Given the description of an element on the screen output the (x, y) to click on. 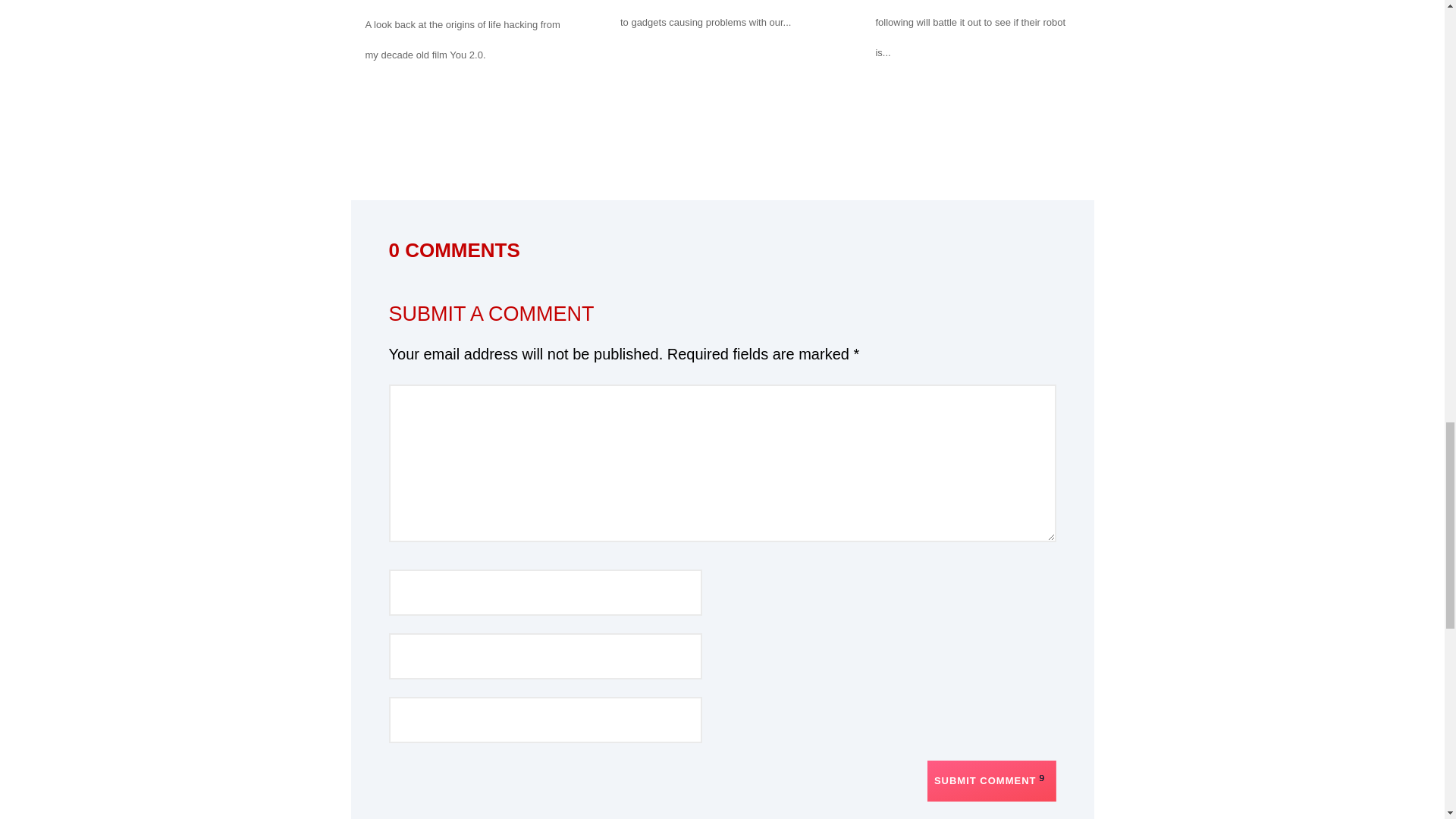
SUBMIT COMMENT (992, 780)
